Given the description of an element on the screen output the (x, y) to click on. 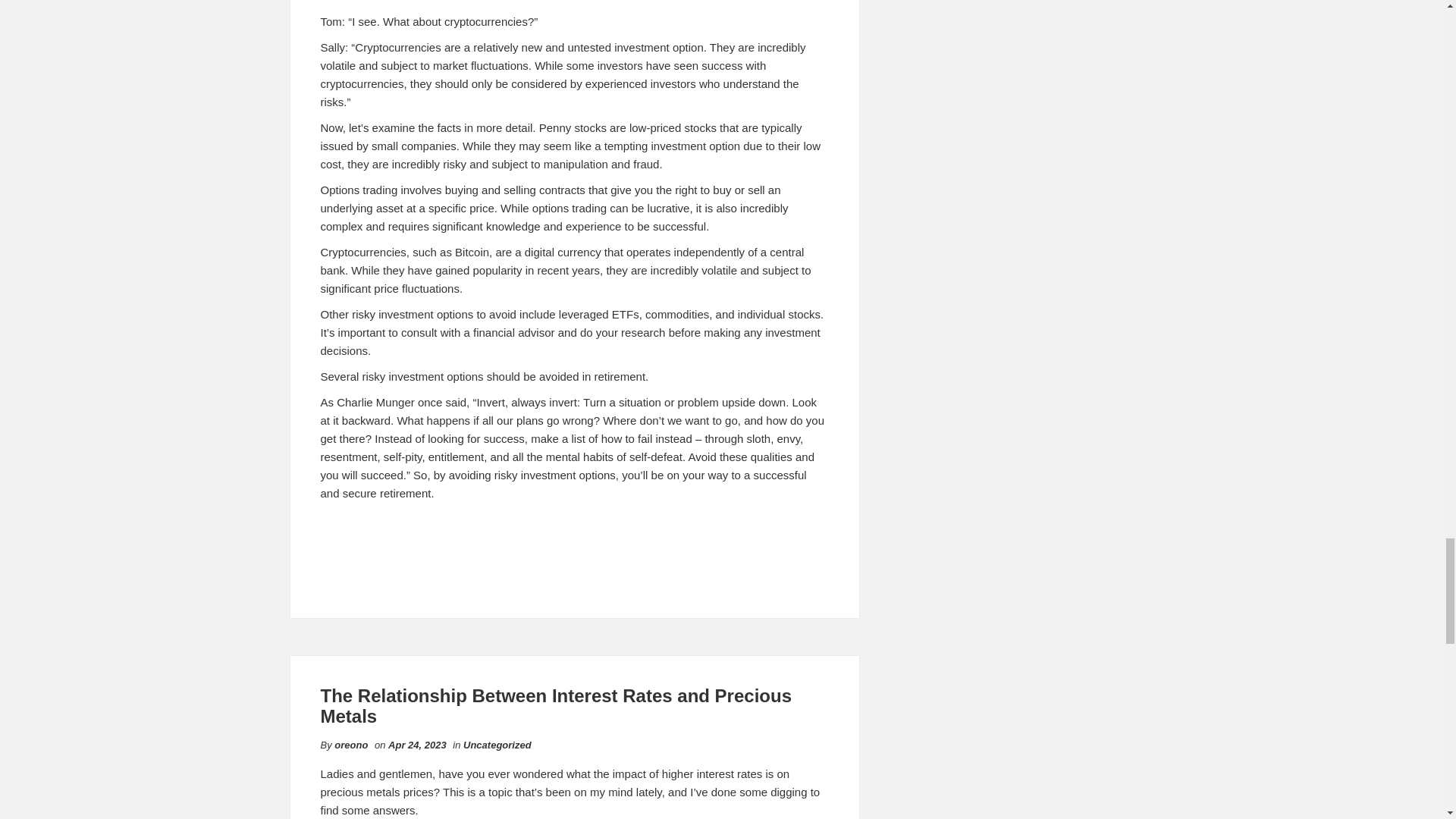
The Relationship Between Interest Rates and Precious Metals (556, 705)
oreono (351, 745)
Uncategorized (497, 745)
